Given the description of an element on the screen output the (x, y) to click on. 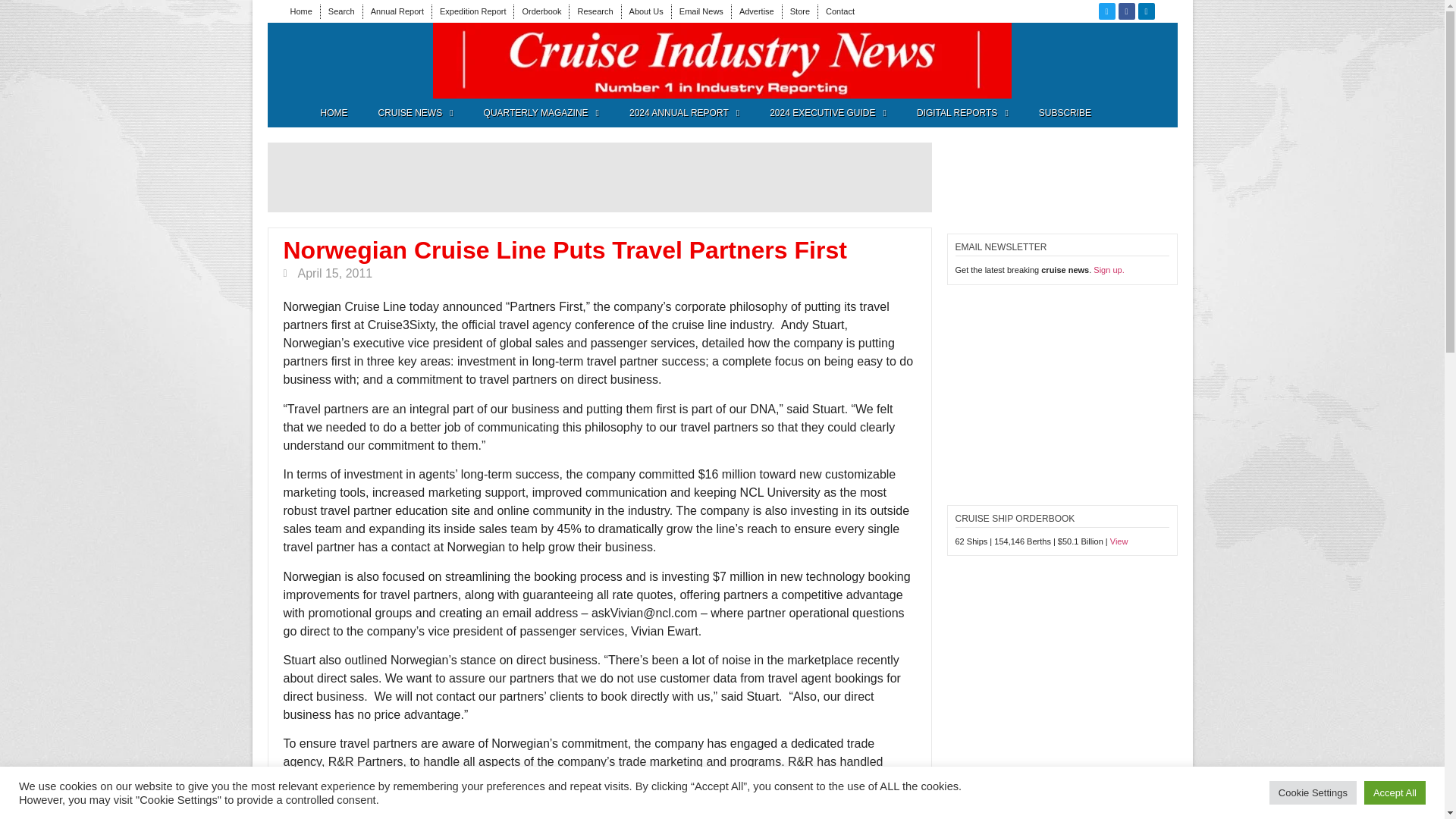
QUARTERLY MAGAZINE (541, 112)
Contact (839, 11)
Annual Report (397, 11)
CRUISE NEWS (414, 112)
Search (342, 11)
Expedition Report (472, 11)
Advertise (756, 11)
About Us (645, 11)
Store (799, 11)
3rd party ad content (360, 60)
